Given the description of an element on the screen output the (x, y) to click on. 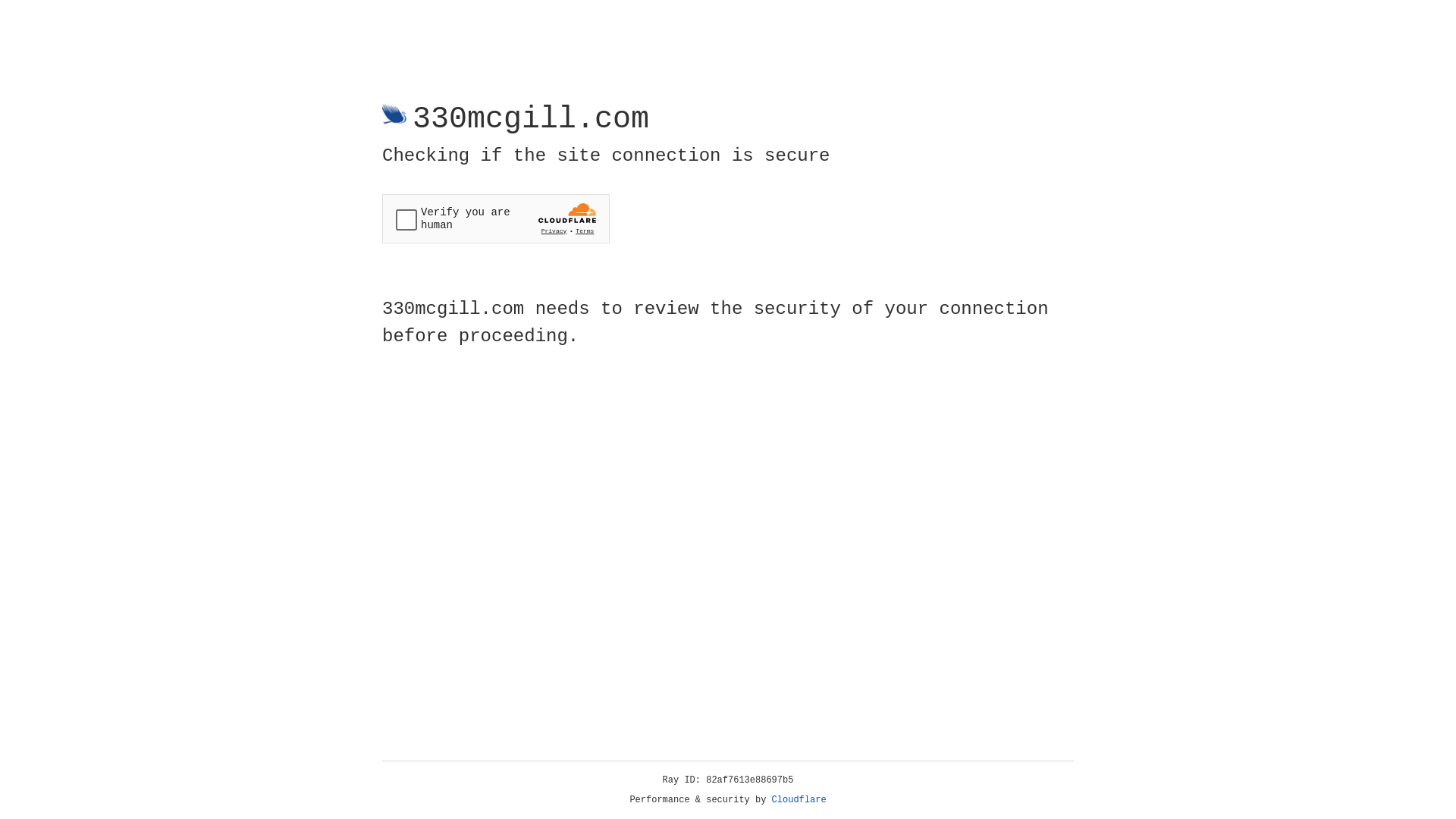
Cloudflare Element type: text (798, 799)
Widget containing a Cloudflare security challenge Element type: hover (495, 218)
